Given the description of an element on the screen output the (x, y) to click on. 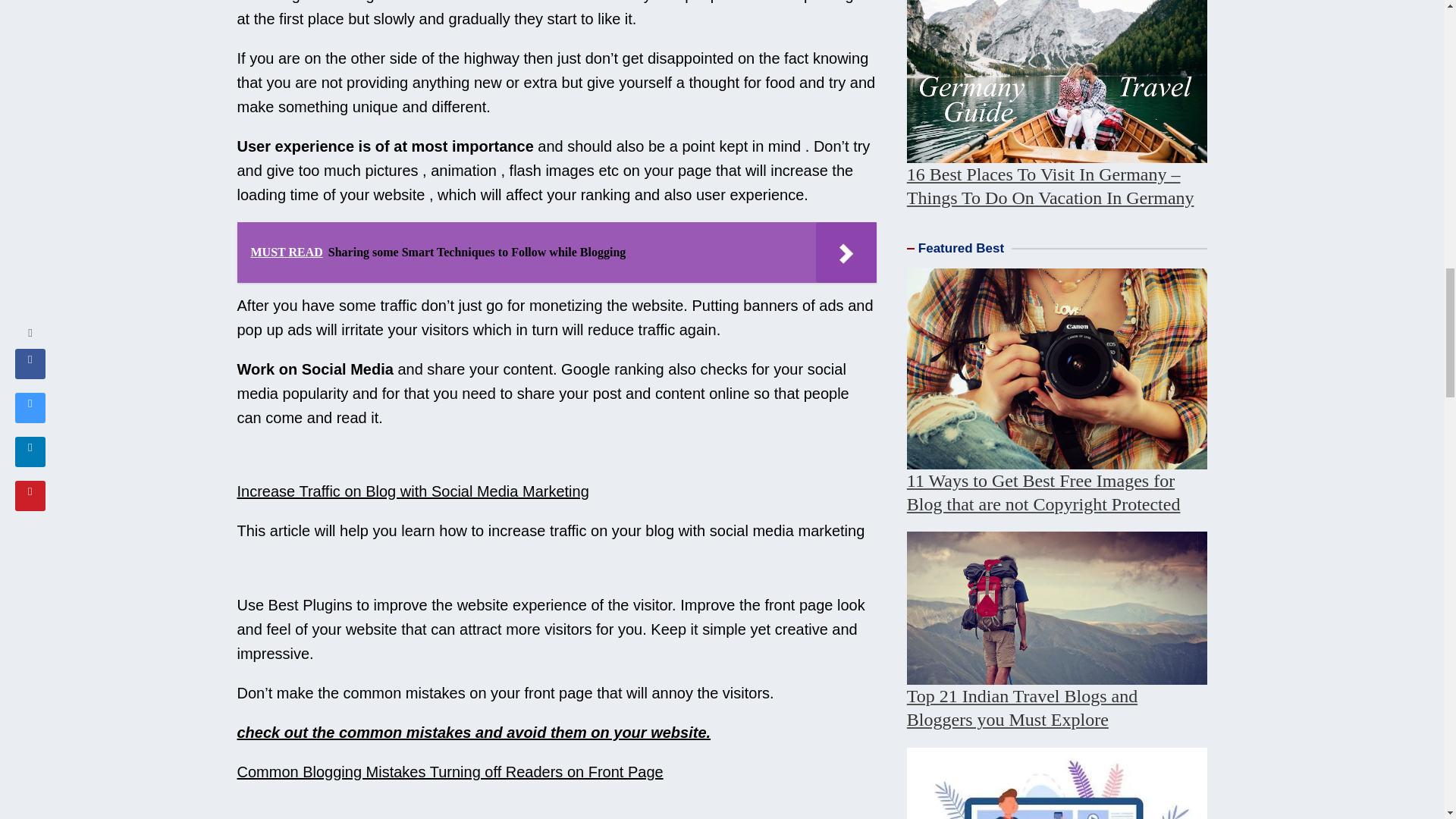
Increase Traffic on Blog with Social Media Marketing (411, 491)
Common Blogging Mistakes Turning off Readers on Front Page (448, 771)
Common Blogging Mistakes Turning off Readers on Front Page (448, 771)
Increase Traffic on Blog with Social Media Marketing (411, 491)
